Given the description of an element on the screen output the (x, y) to click on. 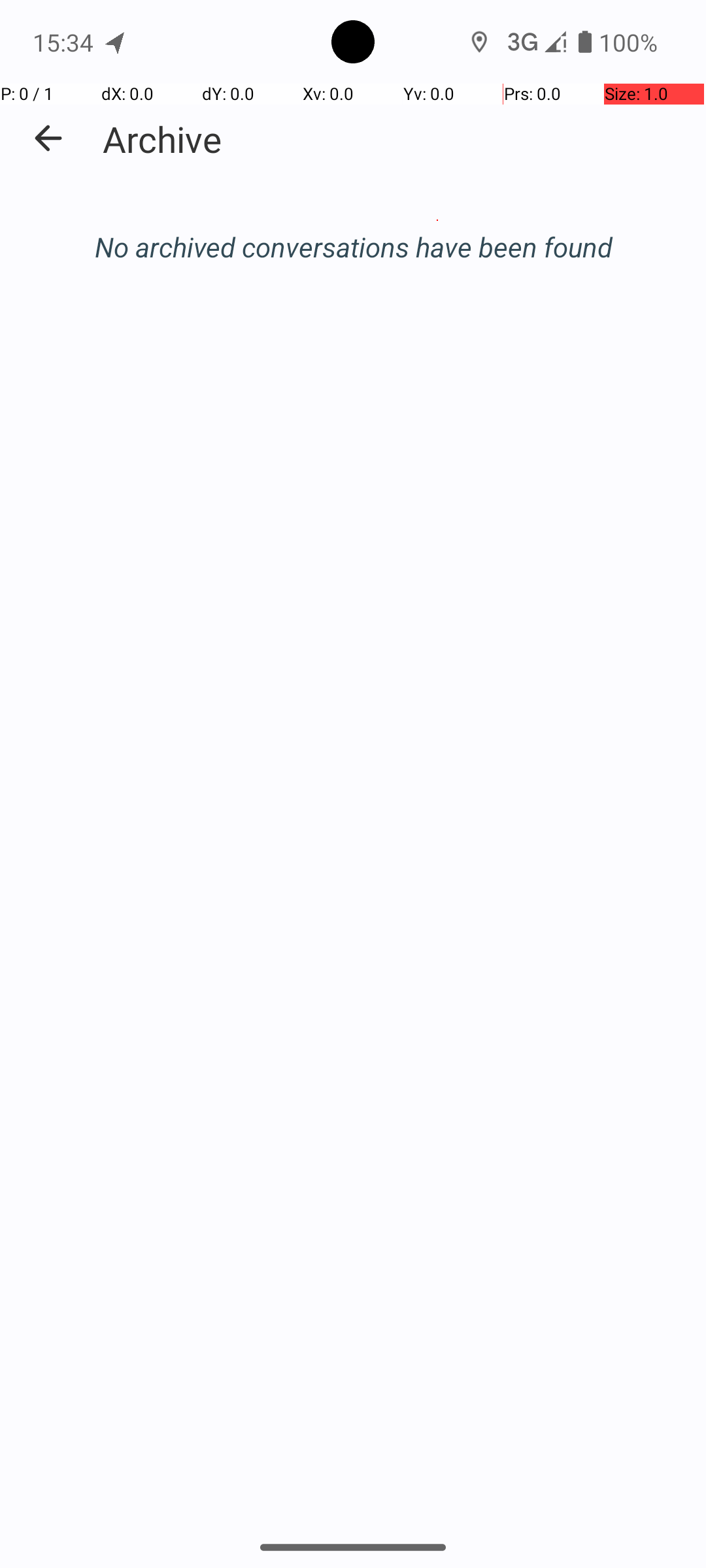
Archive Element type: android.widget.TextView (162, 138)
No archived conversations have been found Element type: android.widget.TextView (353, 246)
